Given the description of an element on the screen output the (x, y) to click on. 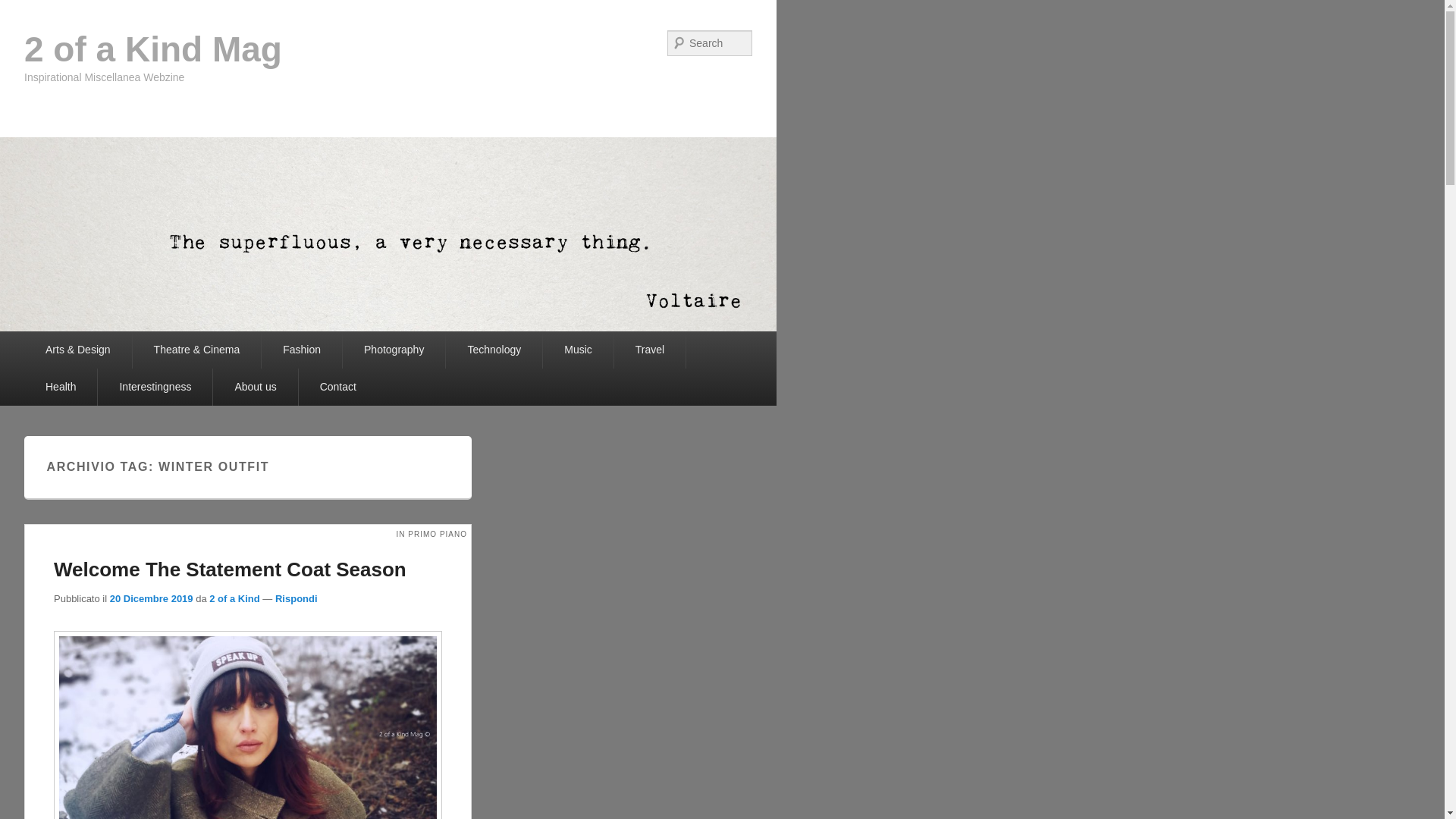
20 Dicembre 2019 Element type: text (151, 598)
Health Element type: text (60, 386)
Travel Element type: text (649, 349)
Contact Element type: text (337, 386)
Cerca Element type: text (18, 10)
Fashion Element type: text (301, 349)
Interestingness Element type: text (154, 386)
Music Element type: text (577, 349)
Photography Element type: text (393, 349)
2 of a Kind Mag Element type: text (153, 49)
2 of a Kind Element type: text (234, 598)
Theatre & Cinema Element type: text (196, 349)
Rispondi Element type: text (296, 598)
Technology Element type: text (493, 349)
Arts & Design Element type: text (77, 349)
Welcome The Statement Coat Season Element type: text (229, 569)
About us Element type: text (255, 386)
